Given the description of an element on the screen output the (x, y) to click on. 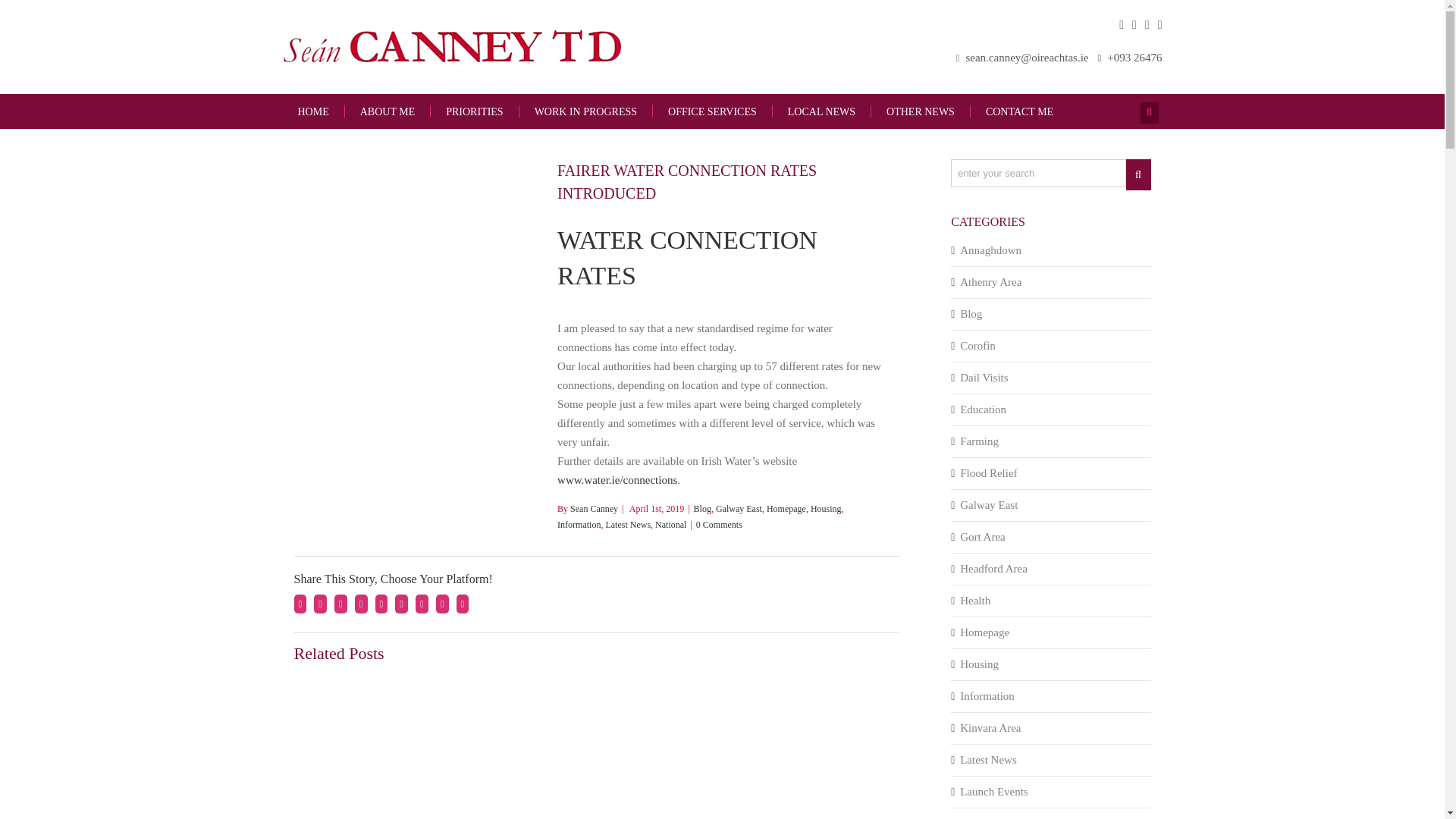
LOCAL NEWS (820, 110)
WORK IN PROGRESS (585, 110)
HOME (312, 111)
Posts by Sean Canney (593, 508)
ABOUT ME (386, 110)
OTHER NEWS (919, 110)
PRIORITIES (473, 110)
OFFICE SERVICES (711, 110)
